Given the description of an element on the screen output the (x, y) to click on. 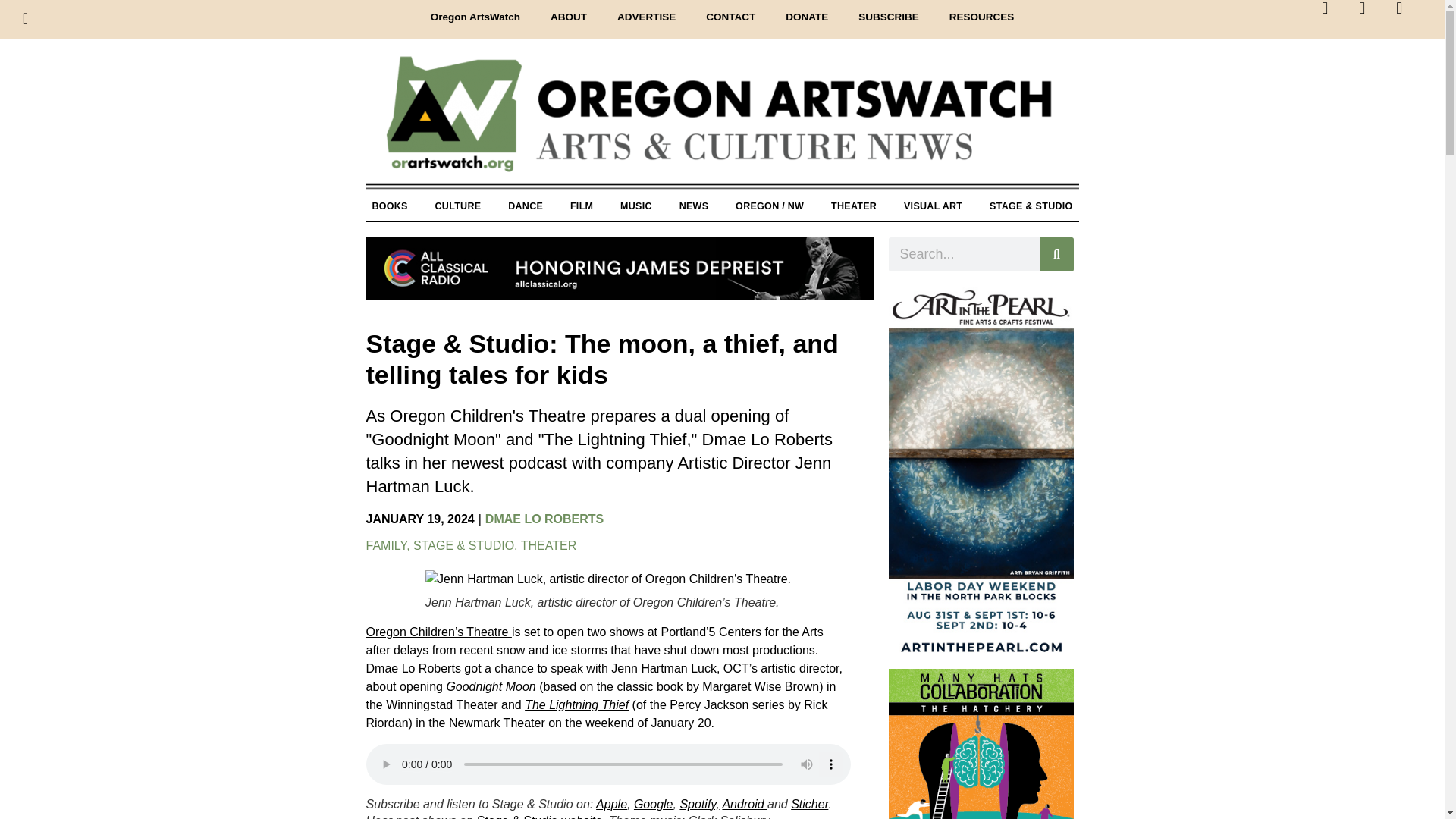
RESOURCES (981, 17)
SUBSCRIBE (888, 17)
ADVERTISE (646, 17)
Oregon ArtsWatch (721, 122)
CONTACT (730, 17)
ABOUT (568, 17)
Oregon ArtsWatch (474, 17)
DONATE (806, 17)
